Given the description of an element on the screen output the (x, y) to click on. 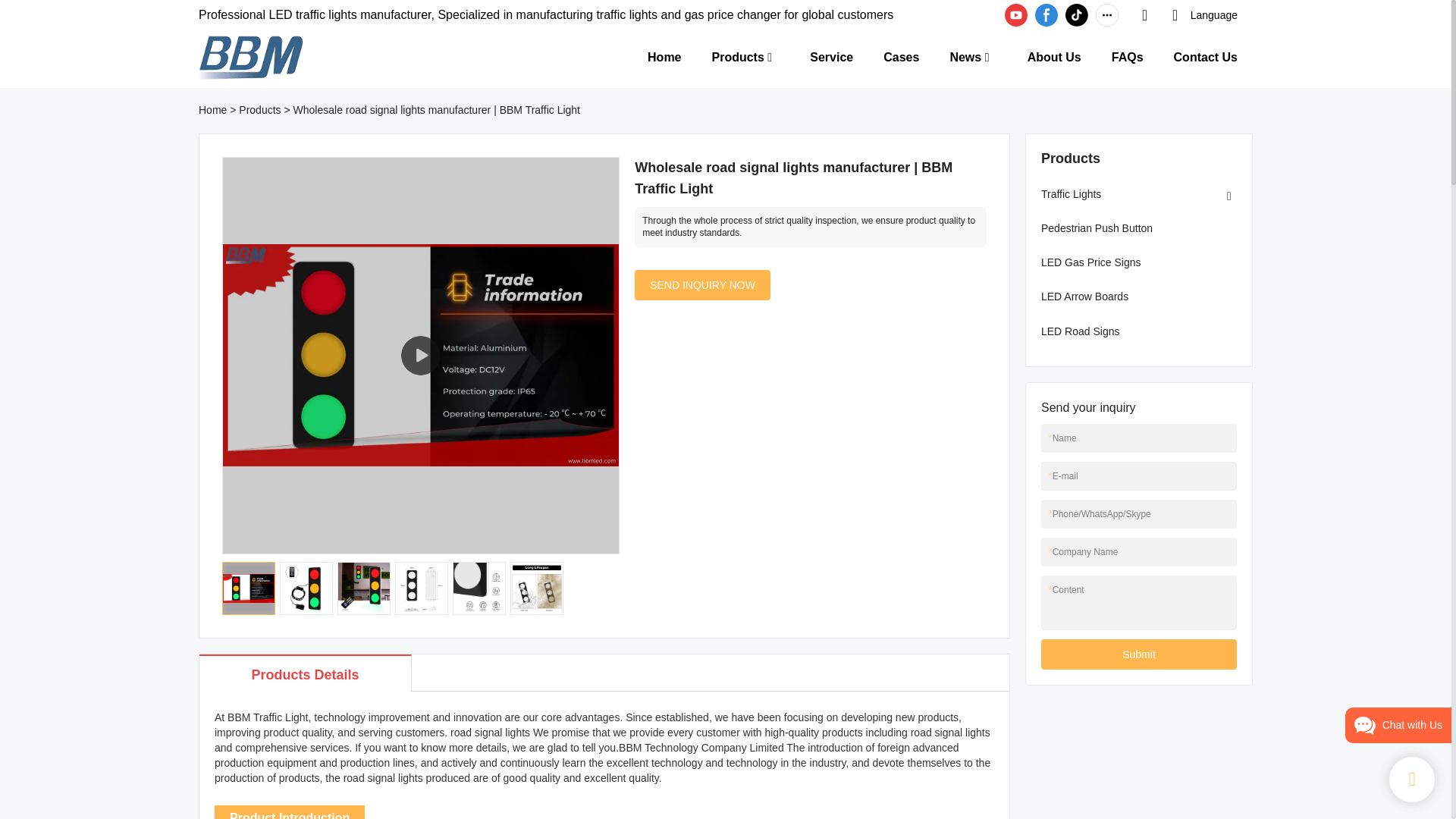
SEND INQUIRY NOW (702, 285)
Home (212, 110)
Contact Us (1205, 56)
Cases (900, 56)
Home (664, 56)
News (965, 56)
About Us (1054, 56)
tiktok (1076, 15)
Service (831, 56)
FAQs (1127, 56)
Products (259, 110)
Products (736, 56)
youtube (1015, 15)
facebook (1045, 15)
